Given the description of an element on the screen output the (x, y) to click on. 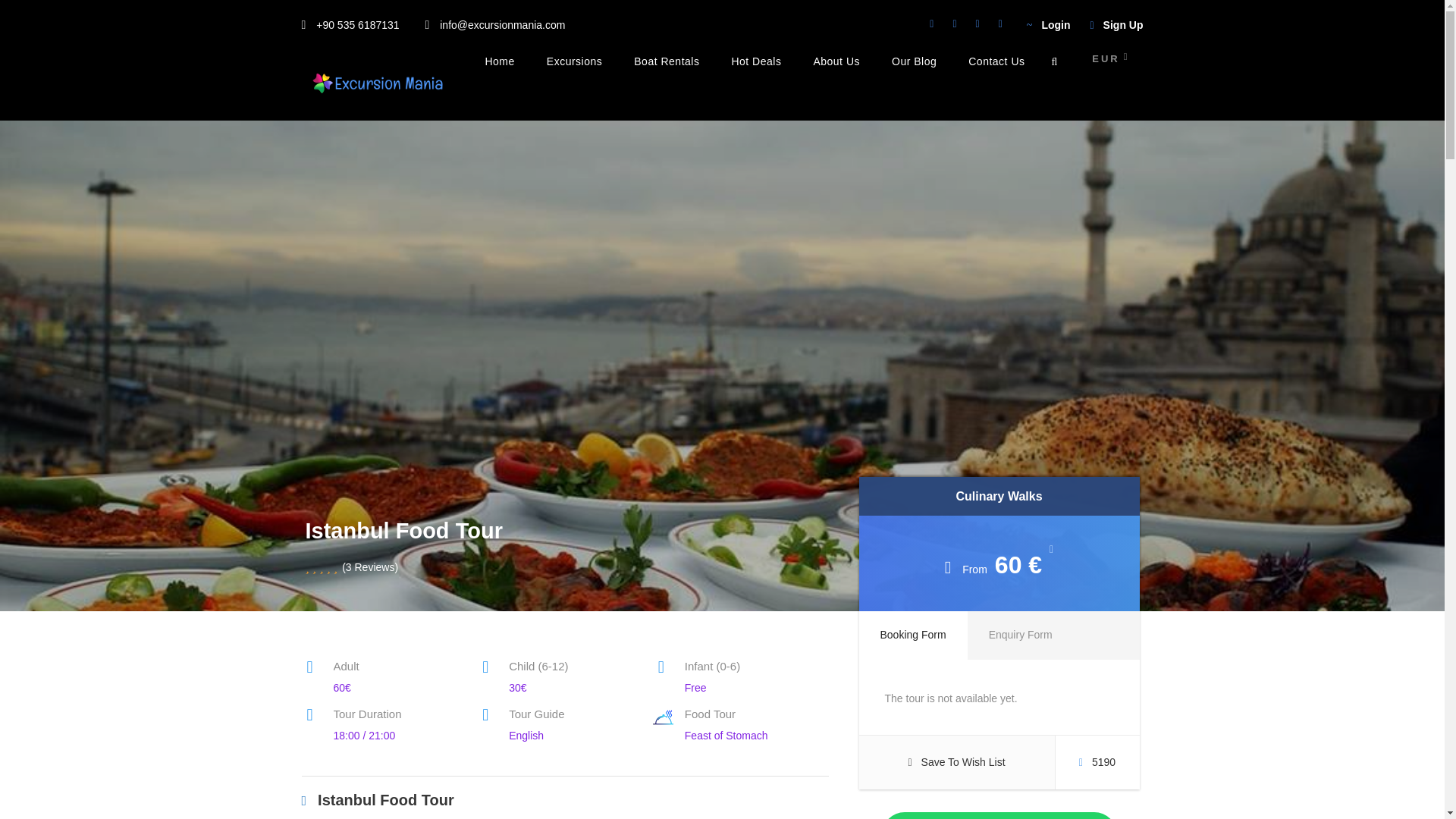
yemek (662, 716)
